Given the description of an element on the screen output the (x, y) to click on. 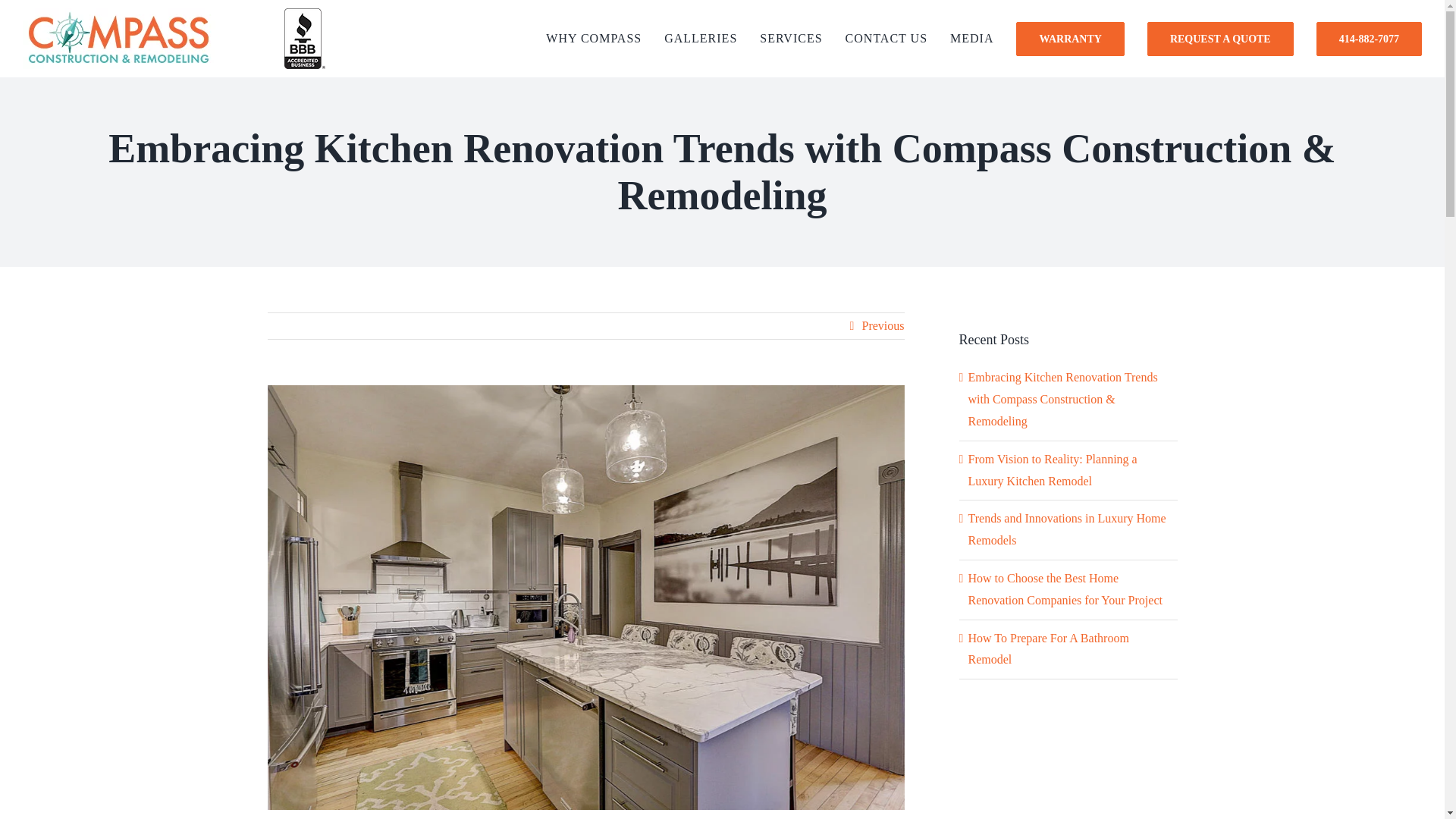
414-882-7077 (1369, 38)
REQUEST A QUOTE (1220, 38)
WARRANTY (1070, 38)
WHY COMPASS (594, 38)
SERVICES (791, 38)
GALLERIES (699, 38)
CONTACT US (886, 38)
MEDIA (971, 38)
